Given the description of an element on the screen output the (x, y) to click on. 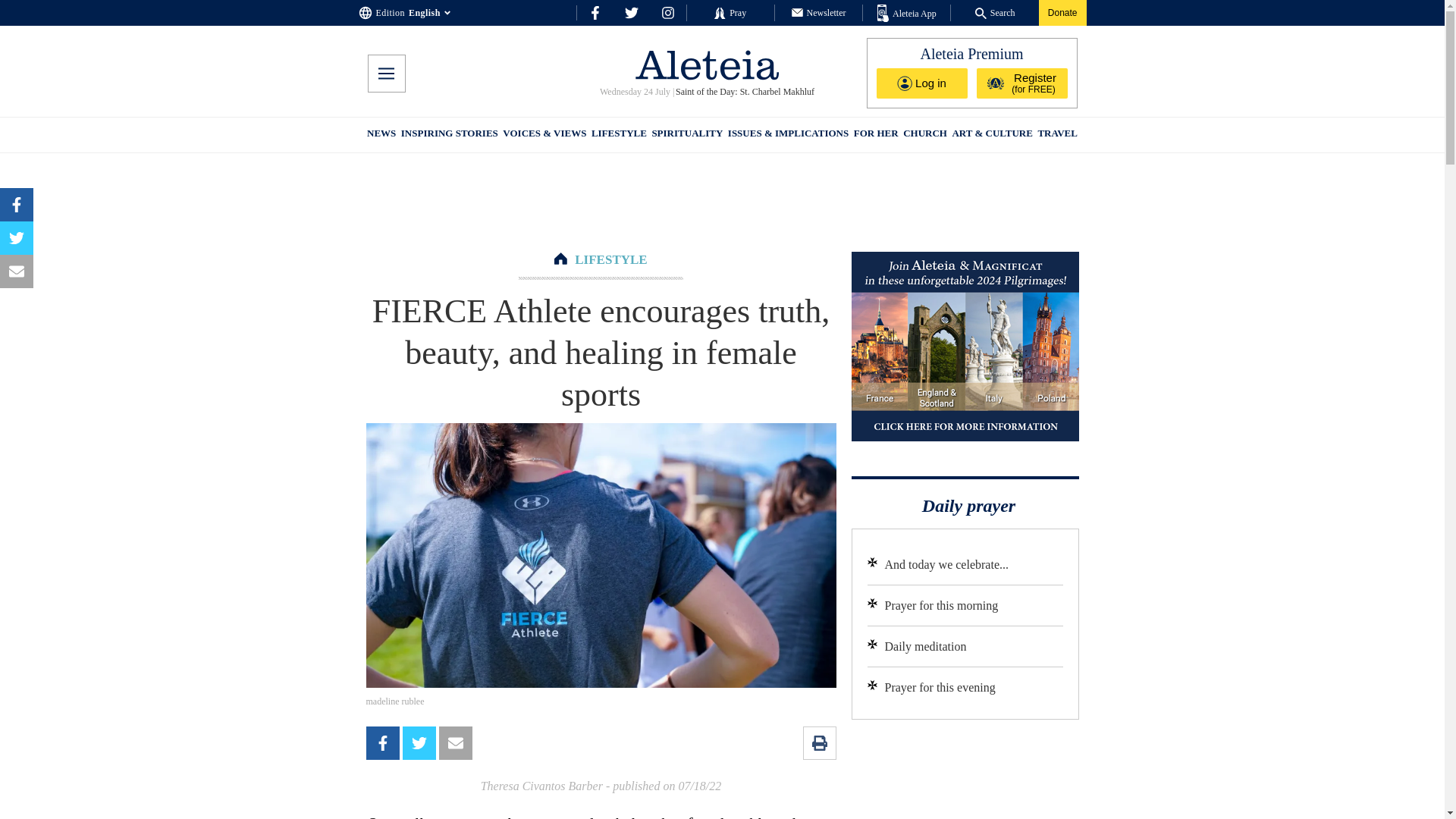
Aleteia App (906, 13)
mobile-menu-btn (385, 73)
social-tw-top-row (631, 12)
FOR HER (875, 134)
Newsletter (818, 12)
social-ig-top-row (668, 12)
social-fb-top-row (595, 12)
LIFESTYLE (610, 259)
CHURCH (924, 134)
Search (994, 12)
INSPIRING STORIES (449, 134)
NEWS (381, 134)
Pray (729, 12)
Log in (922, 82)
Donate (1062, 12)
